Given the description of an element on the screen output the (x, y) to click on. 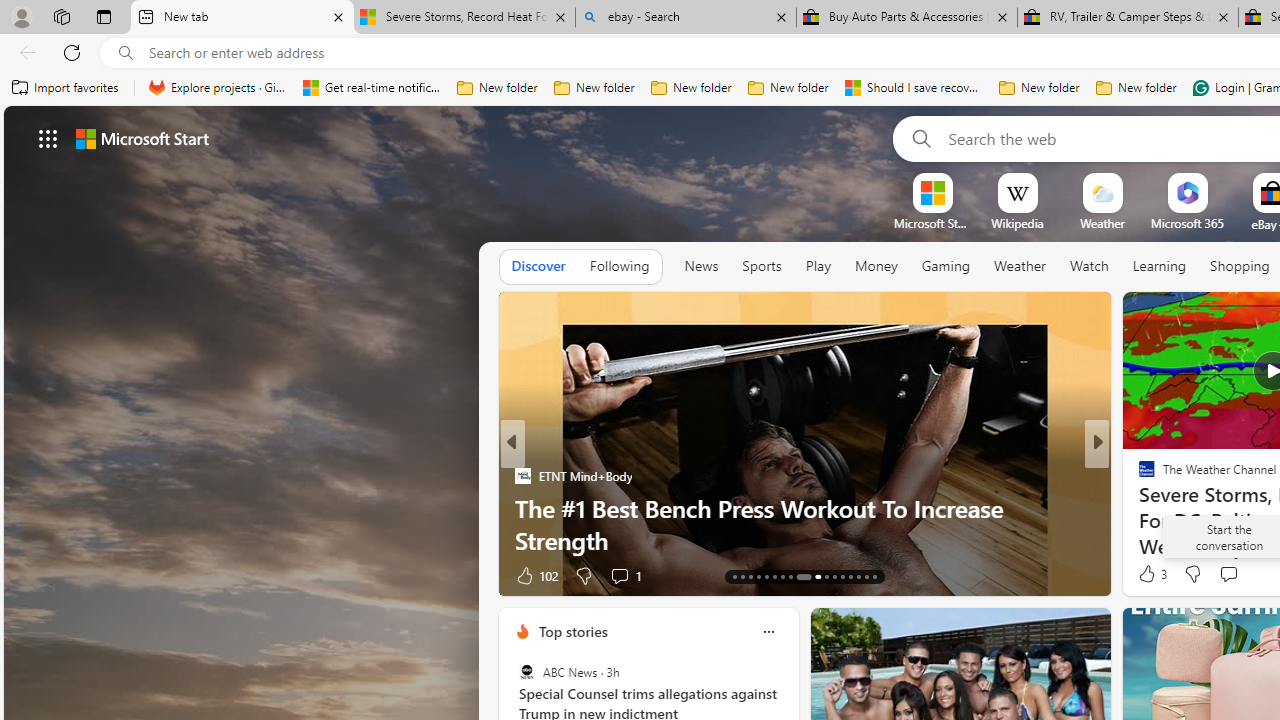
App launcher (47, 138)
More Options (1219, 179)
AutomationID: tab-13 (733, 576)
AutomationID: tab-19 (782, 576)
AutomationID: tab-14 (742, 576)
AutomationID: tab-15 (750, 576)
TheStreet (1138, 507)
AutomationID: tab-28 (865, 576)
Search icon (125, 53)
